Given the description of an element on the screen output the (x, y) to click on. 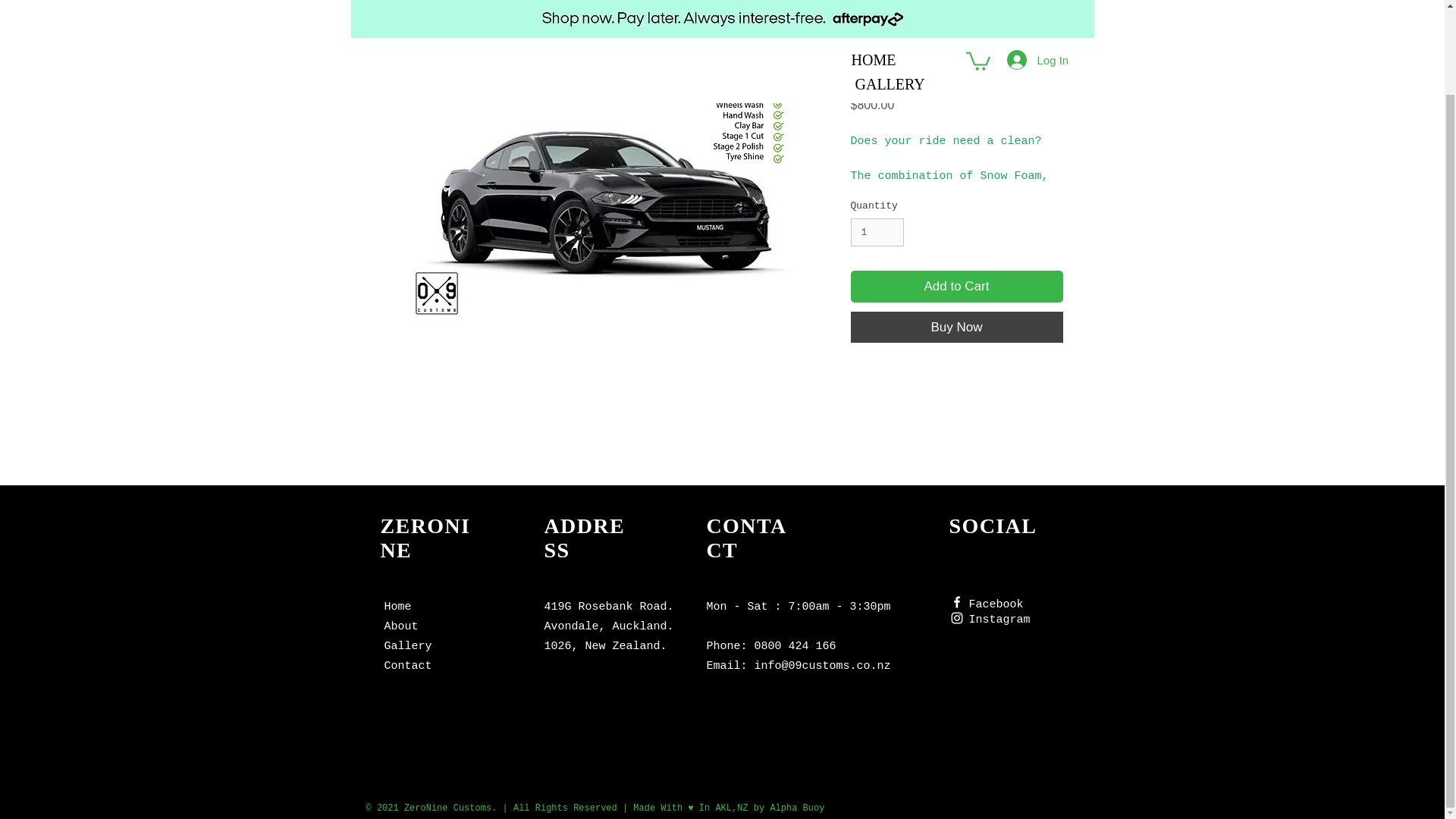
Buy Now (956, 327)
About (400, 626)
1 (877, 232)
Home (397, 604)
Facebook (996, 603)
Add to Cart (956, 286)
Gallery (407, 645)
Contact (407, 666)
Instagram (999, 617)
